Given the description of an element on the screen output the (x, y) to click on. 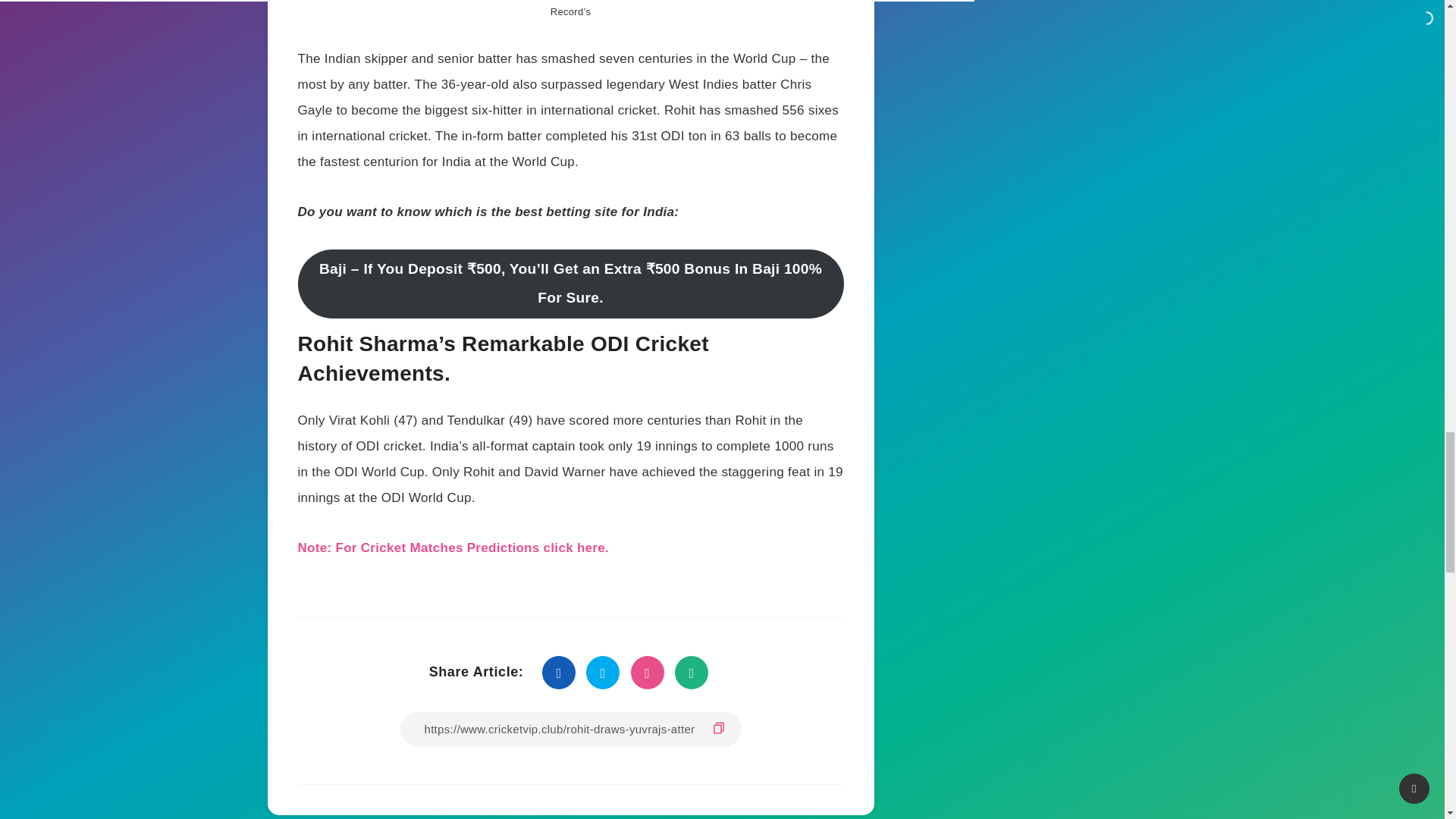
Note: For Cricket Matches Predictions click here. (452, 547)
